Given the description of an element on the screen output the (x, y) to click on. 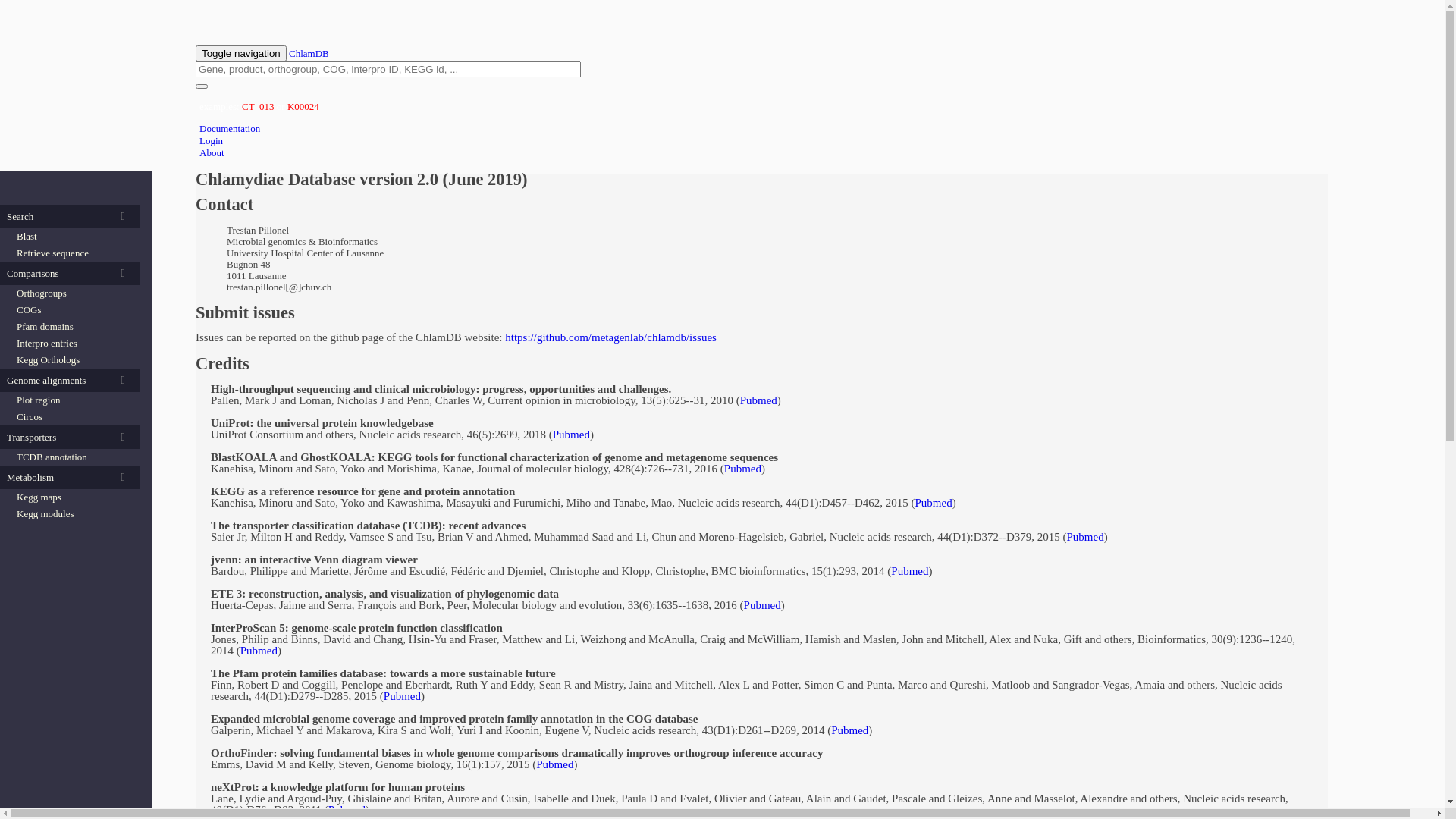
https://github.com/metagenlab/chlamdb/issues Element type: text (610, 337)
Pubmed Element type: text (1085, 536)
Circos Element type: text (73, 416)
Pubmed Element type: text (932, 502)
Pubmed Element type: text (554, 764)
Pubmed Element type: text (762, 605)
About Element type: text (211, 152)
Pubmed Element type: text (258, 650)
Retrieve sequence Element type: text (73, 252)
Blast Element type: text (73, 236)
Pubmed Element type: text (570, 434)
Orthogroups Element type: text (73, 293)
CT_013 Element type: text (257, 106)
Documentation Element type: text (229, 128)
ChlamDB Element type: text (308, 53)
Pubmed Element type: text (346, 809)
TCDB annotation Element type: text (73, 456)
K00024 Element type: text (303, 106)
Pfam domains Element type: text (73, 326)
Login Element type: text (210, 140)
Kegg maps Element type: text (73, 497)
Kegg modules Element type: text (73, 513)
COGs Element type: text (73, 309)
Kegg Orthologs Element type: text (73, 359)
Pubmed Element type: text (401, 696)
Interpro entries Element type: text (73, 343)
Pubmed Element type: text (758, 400)
Pubmed Element type: text (909, 570)
Pubmed Element type: text (742, 468)
Plot region Element type: text (73, 400)
Toggle navigation Element type: text (240, 53)
Pubmed Element type: text (849, 730)
